Given the description of an element on the screen output the (x, y) to click on. 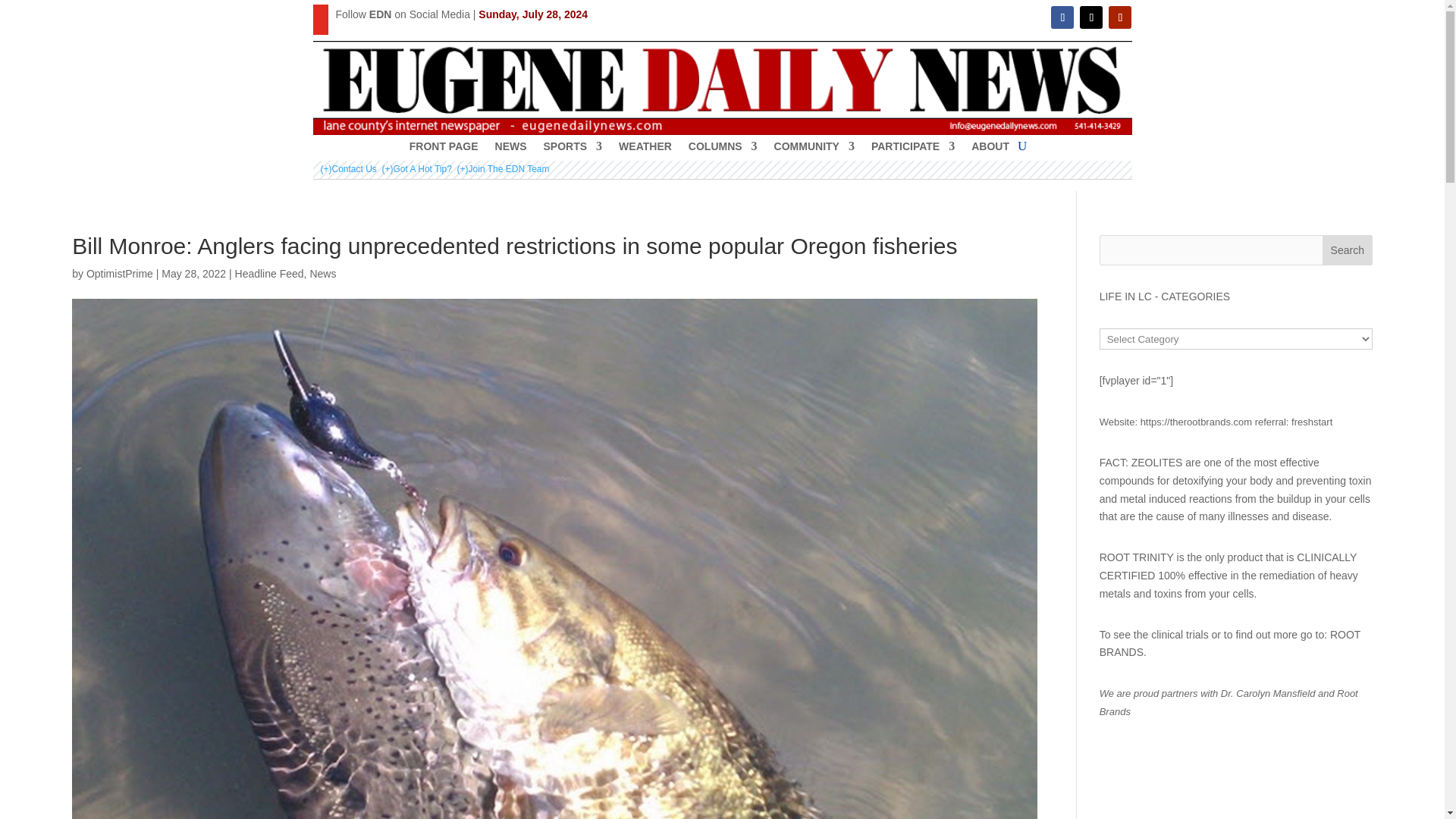
COLUMNS (722, 149)
SPORTS (572, 149)
Follow on Youtube (1119, 16)
Follow on X (1091, 16)
PARTICIPATE (912, 149)
ABOUT (990, 149)
Follow on Facebook (1062, 16)
WEATHER (644, 149)
COMMUNITY (814, 149)
FRONT PAGE (444, 149)
NEWS (511, 149)
Posts by OptimistPrime (118, 273)
